Given the description of an element on the screen output the (x, y) to click on. 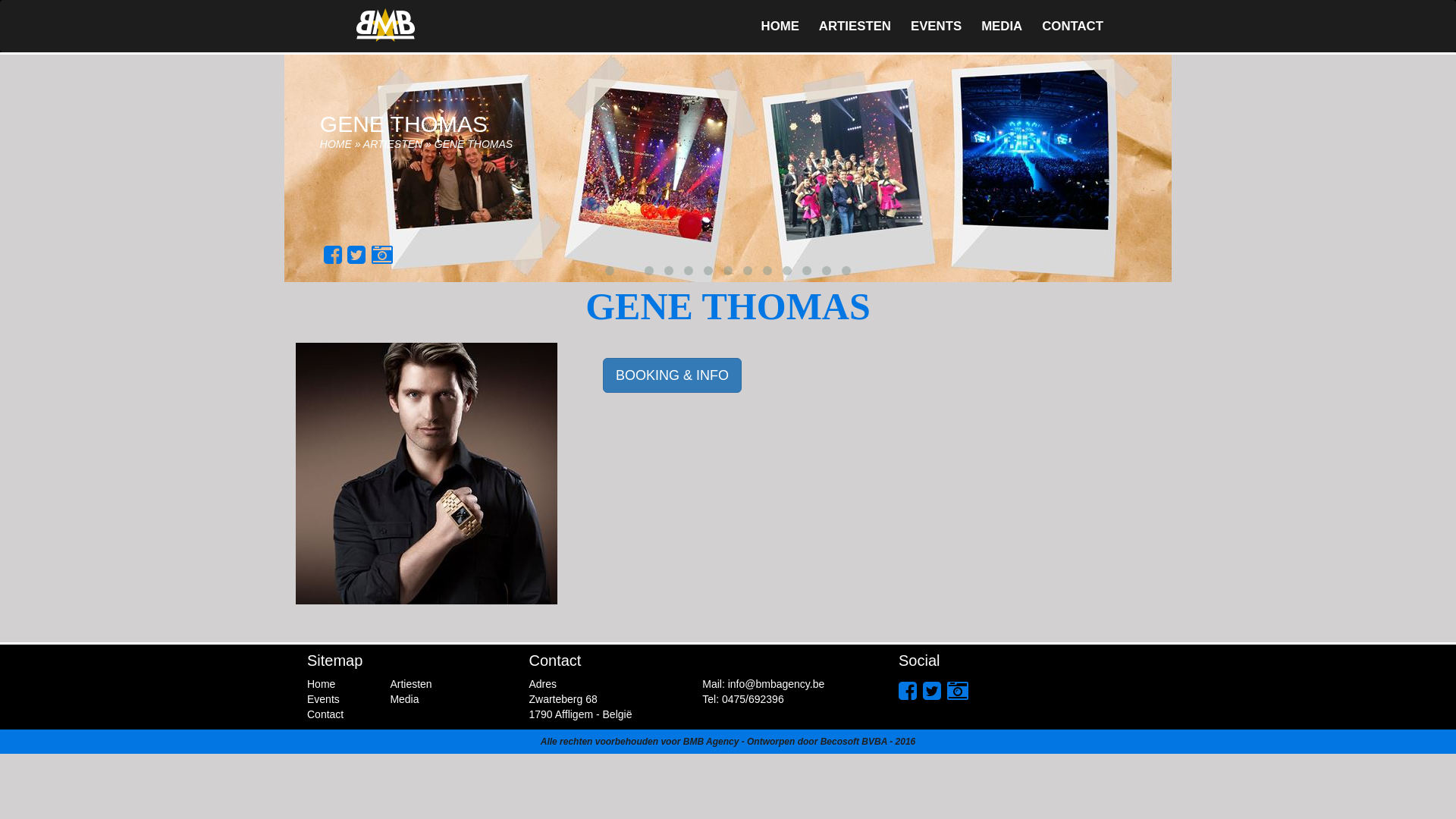
Home Element type: text (321, 683)
Media Element type: text (403, 699)
Back to home Element type: hover (385, 24)
Facebook Element type: hover (907, 690)
EVENTS Element type: text (935, 26)
Artiesten Element type: text (410, 683)
ARTIESTEN Element type: text (854, 26)
HOME Element type: text (335, 144)
Contact Element type: text (325, 714)
Back to home Element type: hover (385, 27)
BOOKING & INFO Element type: text (671, 374)
Facebook Element type: hover (332, 254)
Twitter Element type: hover (356, 254)
info@bmbagency.be Element type: text (776, 683)
ARTIESTEN Element type: text (392, 144)
Events Element type: text (323, 699)
Twitter Element type: hover (931, 690)
MEDIA Element type: text (1001, 26)
HOME Element type: text (780, 26)
Instagram Element type: hover (957, 690)
CONTACT Element type: text (1072, 26)
Instagram Element type: hover (381, 254)
